Given the description of an element on the screen output the (x, y) to click on. 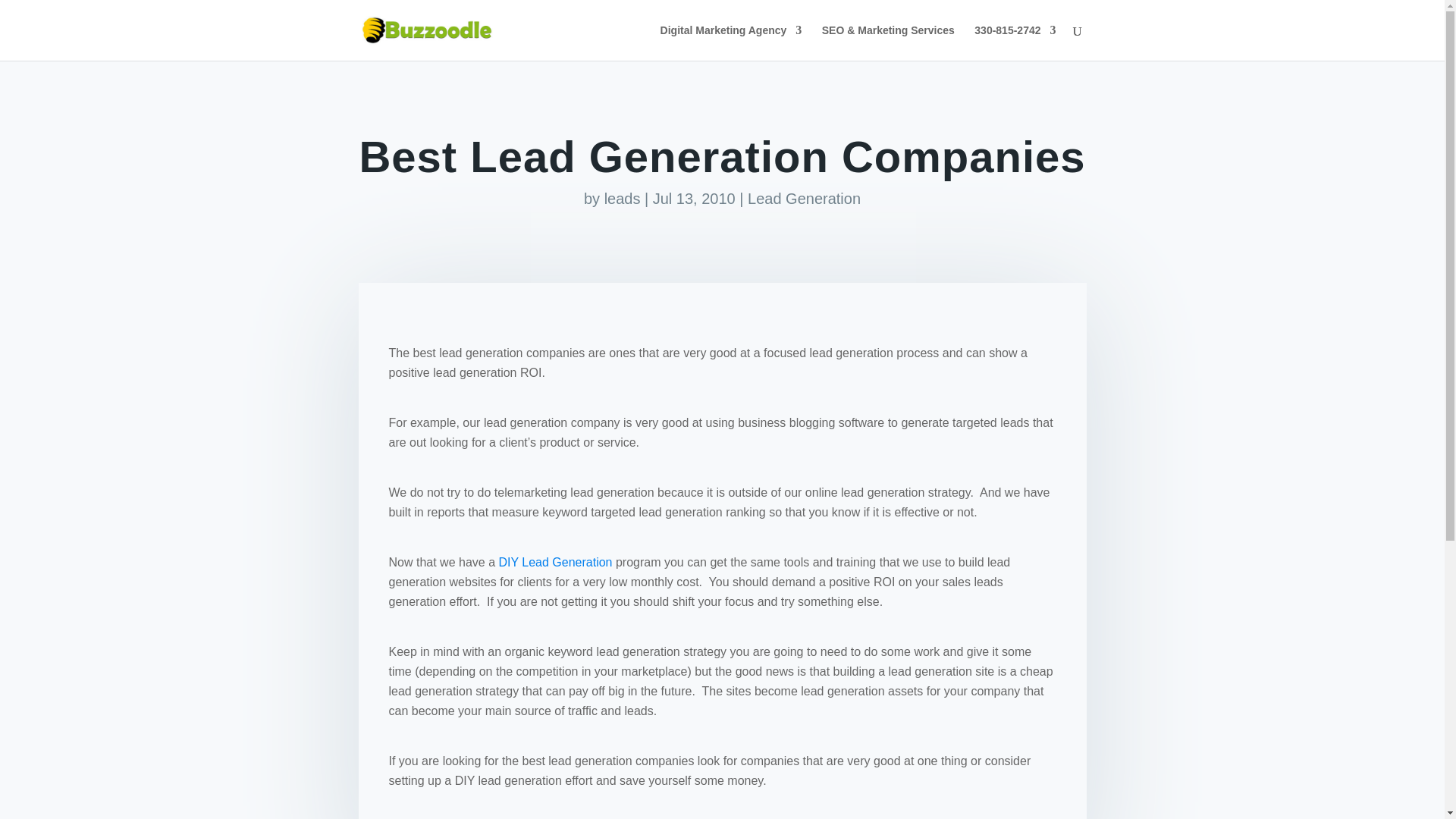
Posts by leads (622, 198)
DIY Lead Generation (554, 562)
Lead Generation (804, 198)
leads (622, 198)
330-815-2742 (1014, 42)
Digital Marketing Agency (731, 42)
